Given the description of an element on the screen output the (x, y) to click on. 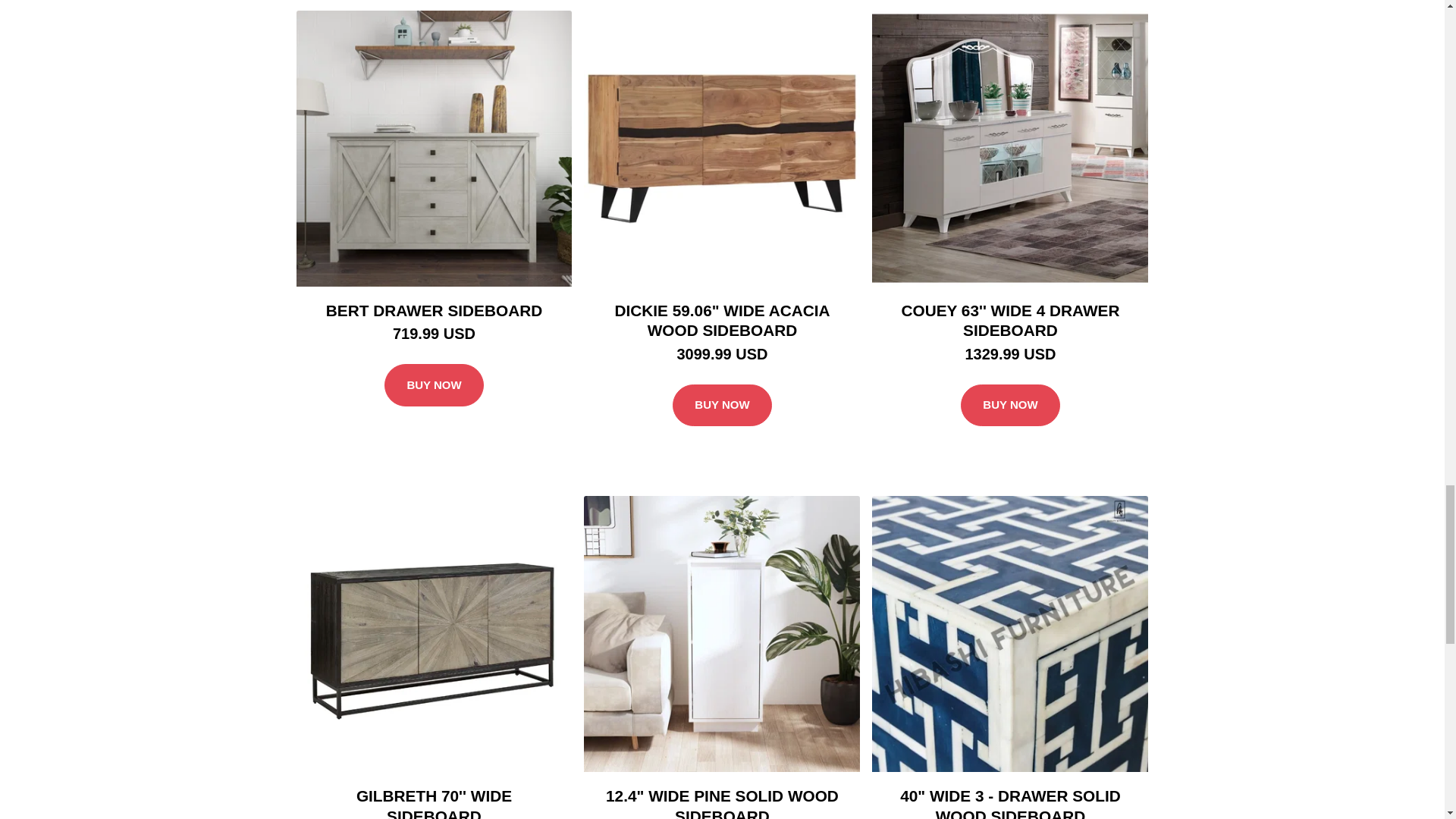
BUY NOW (433, 384)
BERT DRAWER SIDEBOARD (433, 310)
DICKIE 59.06" WIDE ACACIA WOOD SIDEBOARD (721, 320)
BUY NOW (721, 405)
